Given the description of an element on the screen output the (x, y) to click on. 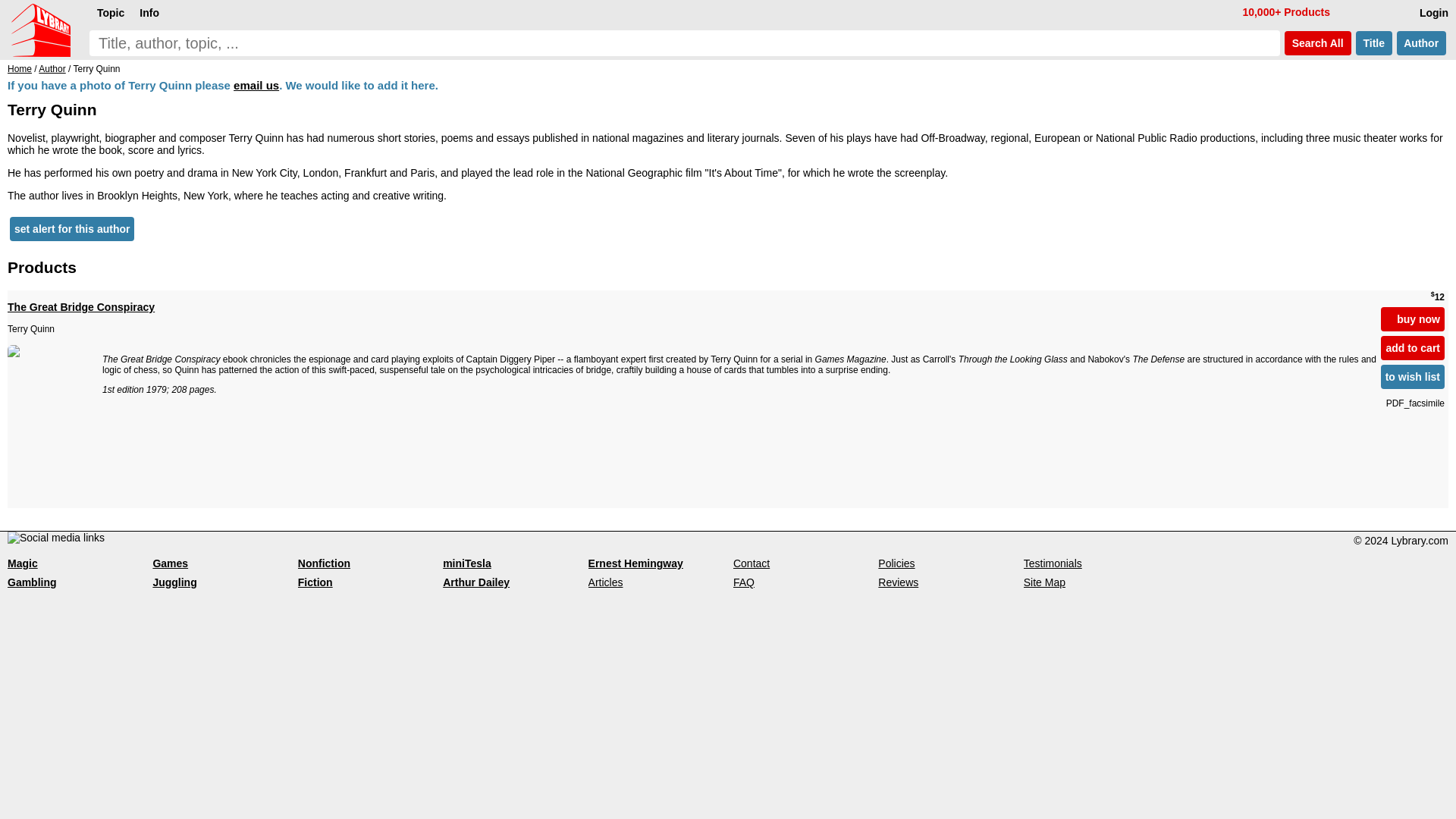
Site Map (1044, 582)
Author (52, 68)
Policies (895, 563)
Articles (605, 582)
to wish list (1412, 376)
Games (169, 563)
Gambling (31, 582)
Contact (751, 563)
Arthur Dailey (475, 582)
email us (255, 84)
 Author  (1420, 43)
The Great Bridge Conspiracy (692, 317)
miniTesla (467, 563)
Testimonials (1052, 563)
Fiction (315, 582)
